Given the description of an element on the screen output the (x, y) to click on. 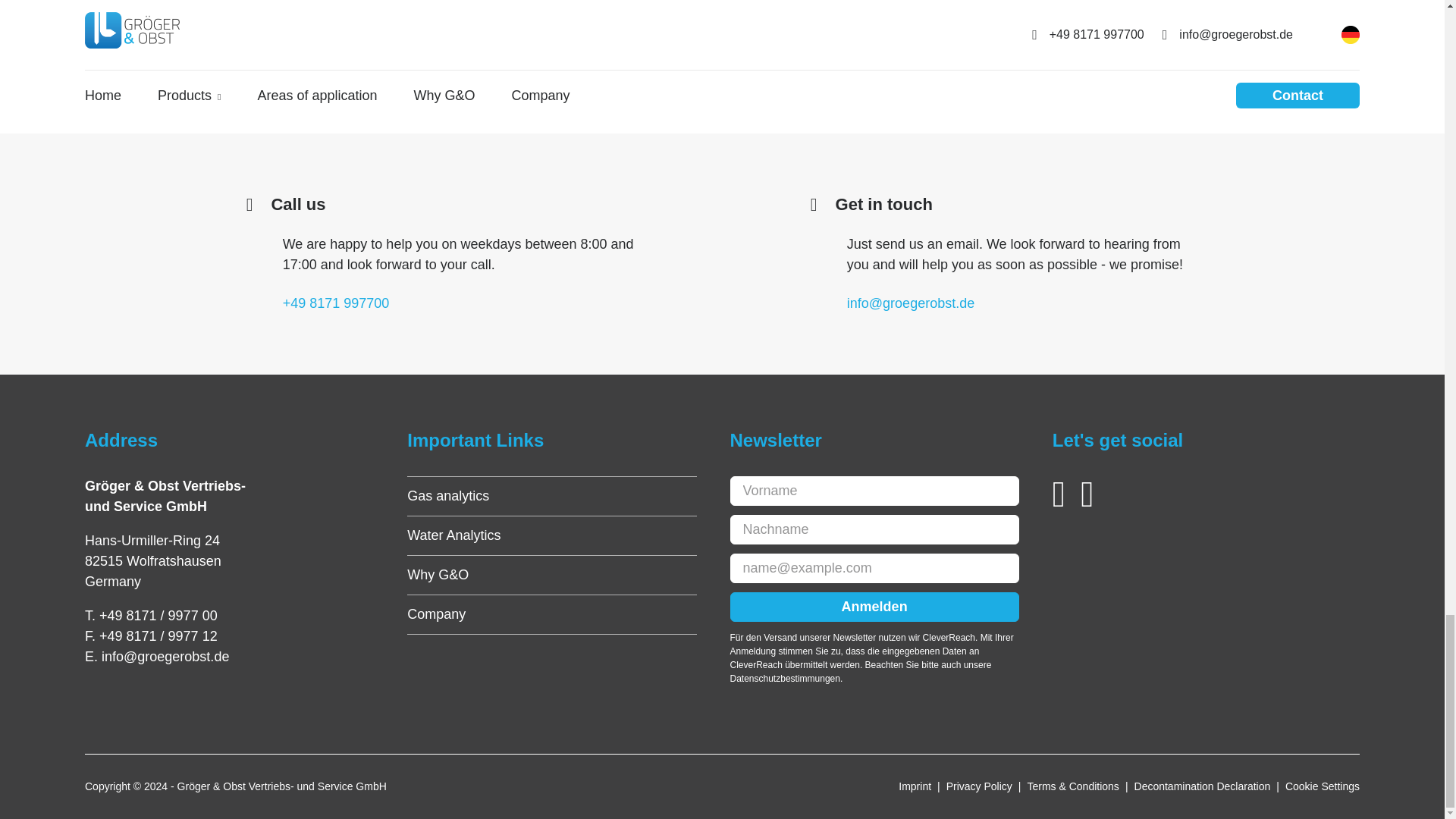
Gas analytics (448, 495)
